Given the description of an element on the screen output the (x, y) to click on. 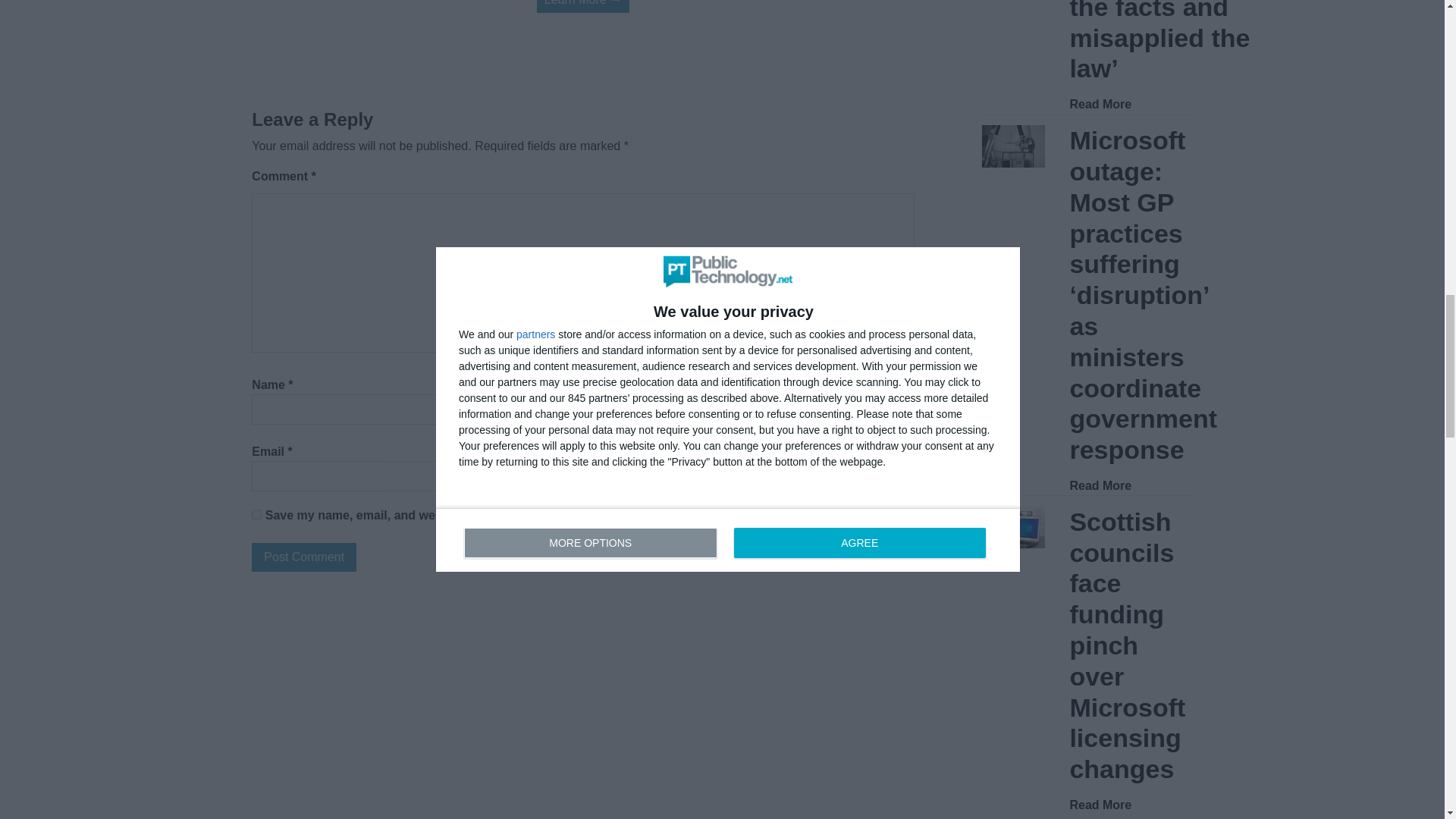
Post Comment (303, 556)
yes (256, 514)
